Given the description of an element on the screen output the (x, y) to click on. 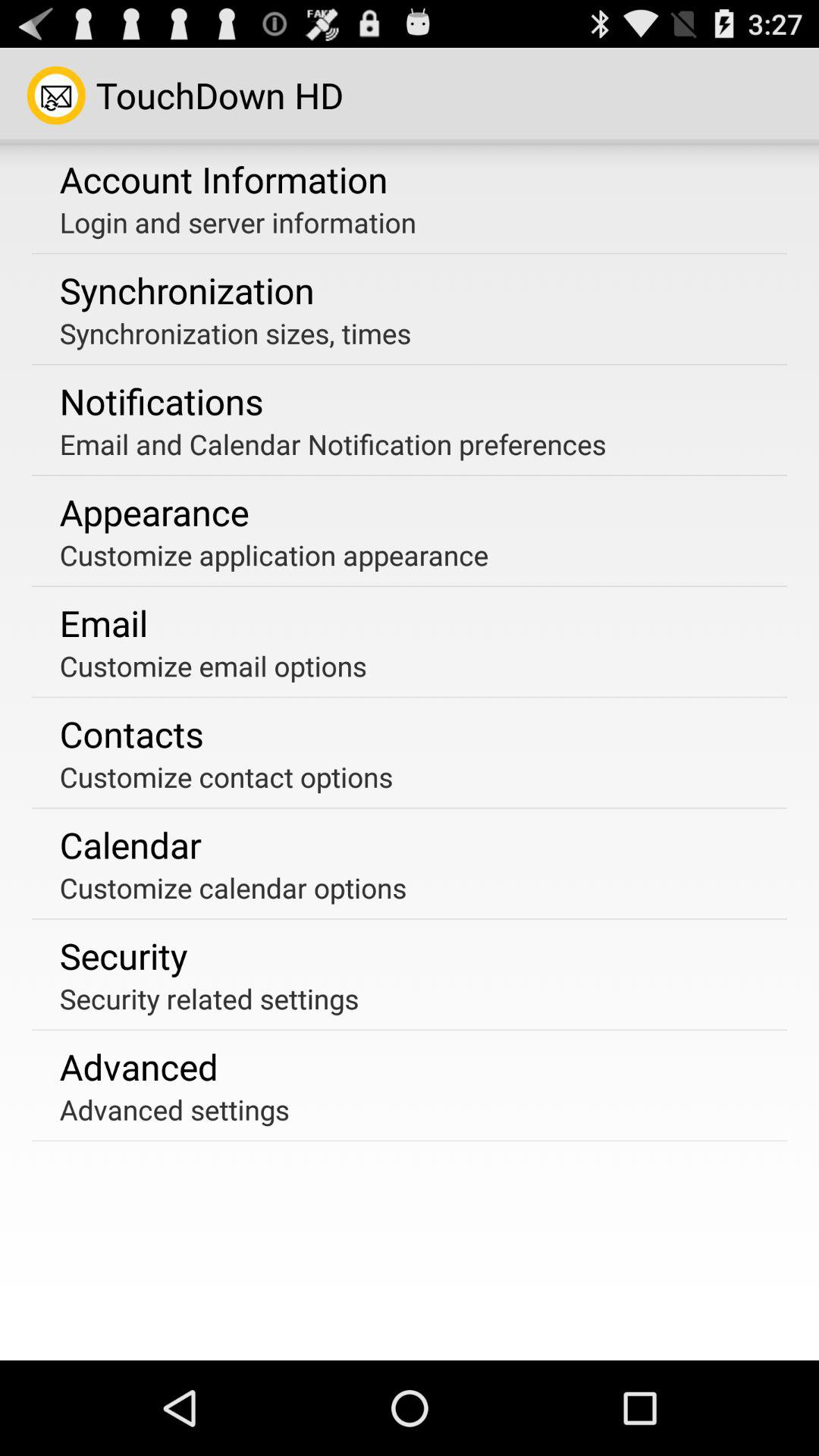
swipe until the notifications (161, 401)
